Given the description of an element on the screen output the (x, y) to click on. 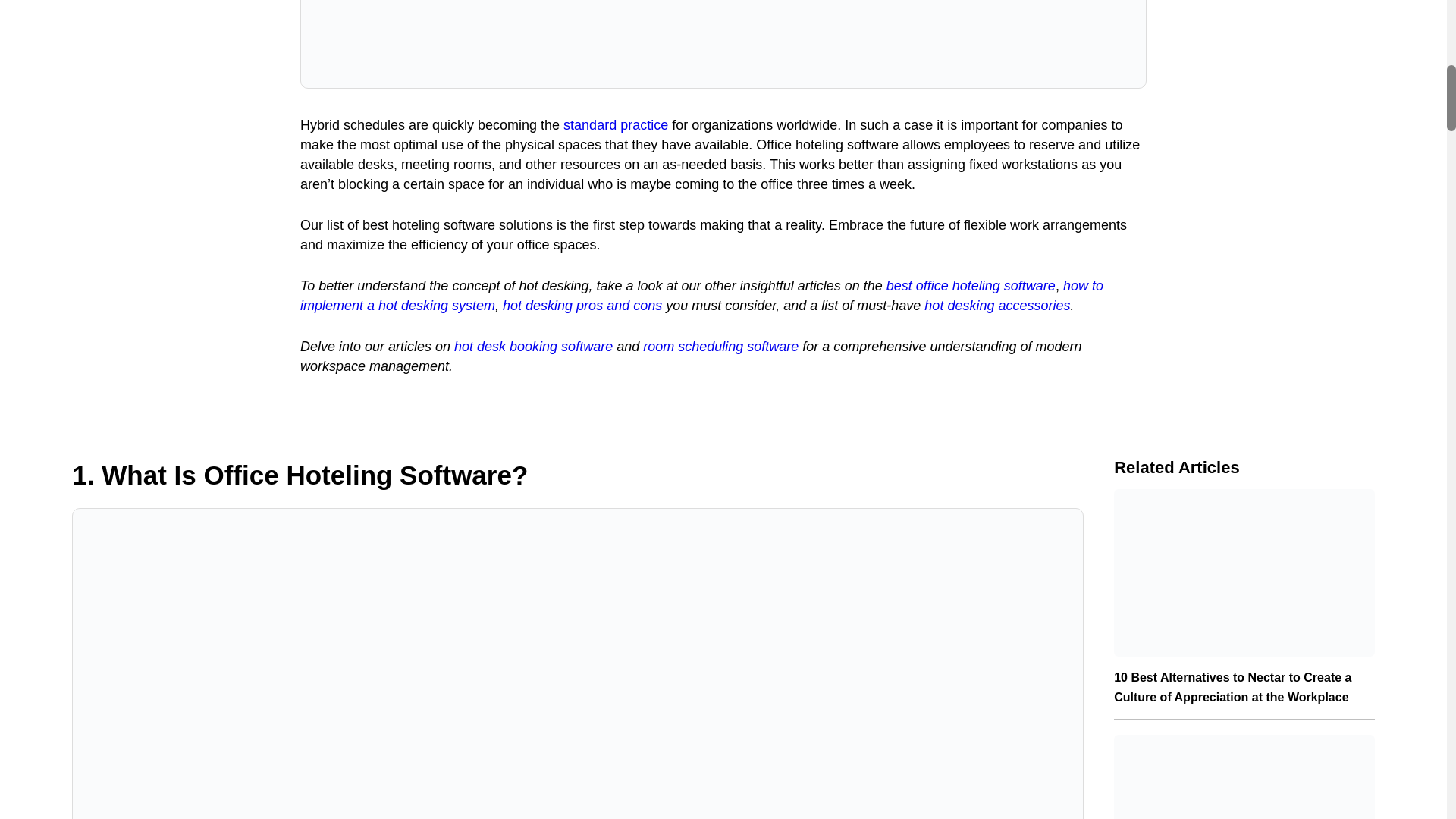
hot desking pros and cons (582, 305)
standard practice (615, 124)
best office hoteling software (970, 285)
hot desk booking software (533, 346)
hot desking accessories (997, 305)
room scheduling software (720, 346)
how to implement a hot desking system (701, 295)
